Given the description of an element on the screen output the (x, y) to click on. 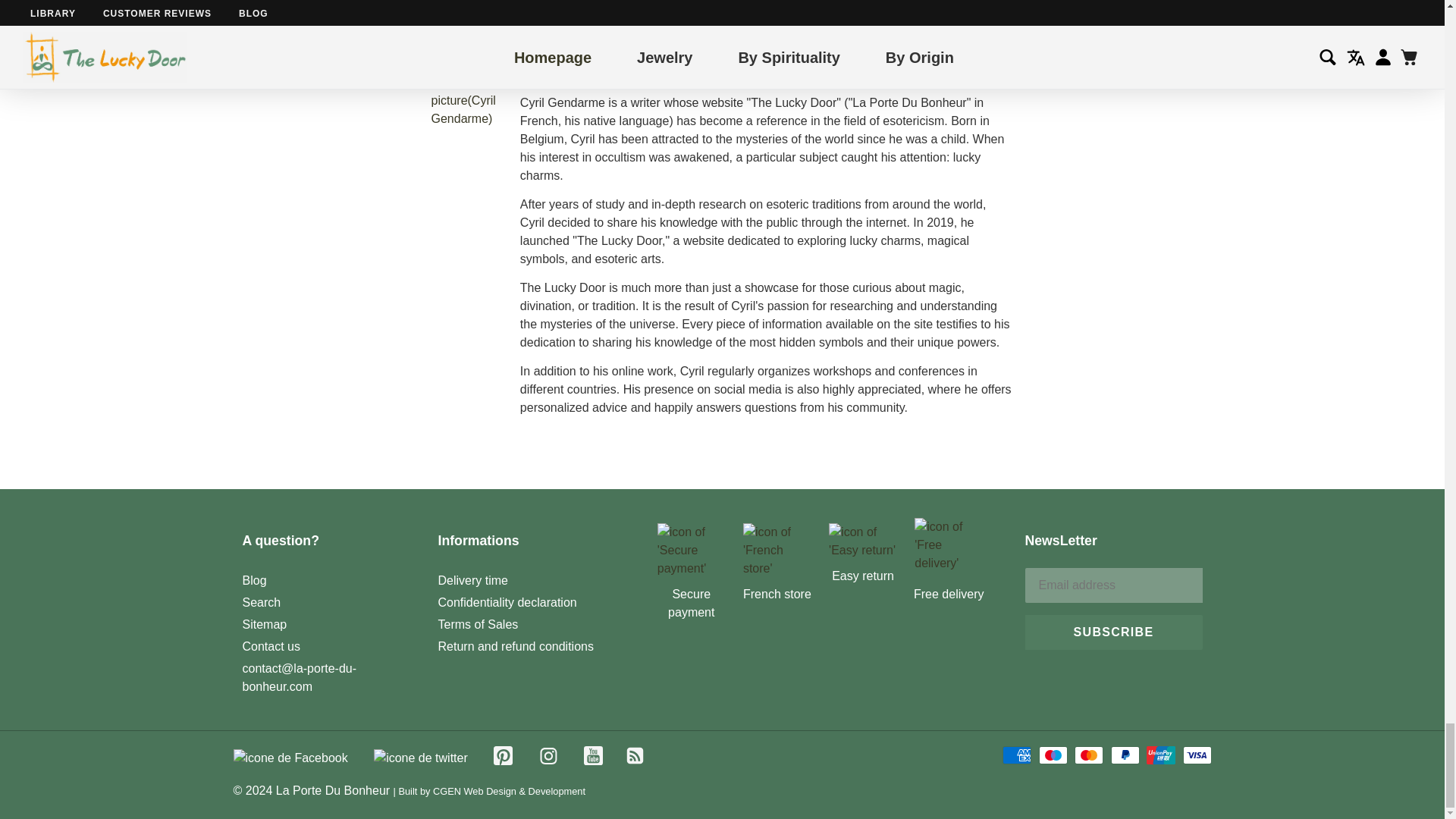
American Express (1016, 755)
Maestro (1053, 755)
PayPal (1125, 755)
Mastercard (1088, 755)
Visa (1196, 755)
Union Pay (1160, 755)
